Given the description of an element on the screen output the (x, y) to click on. 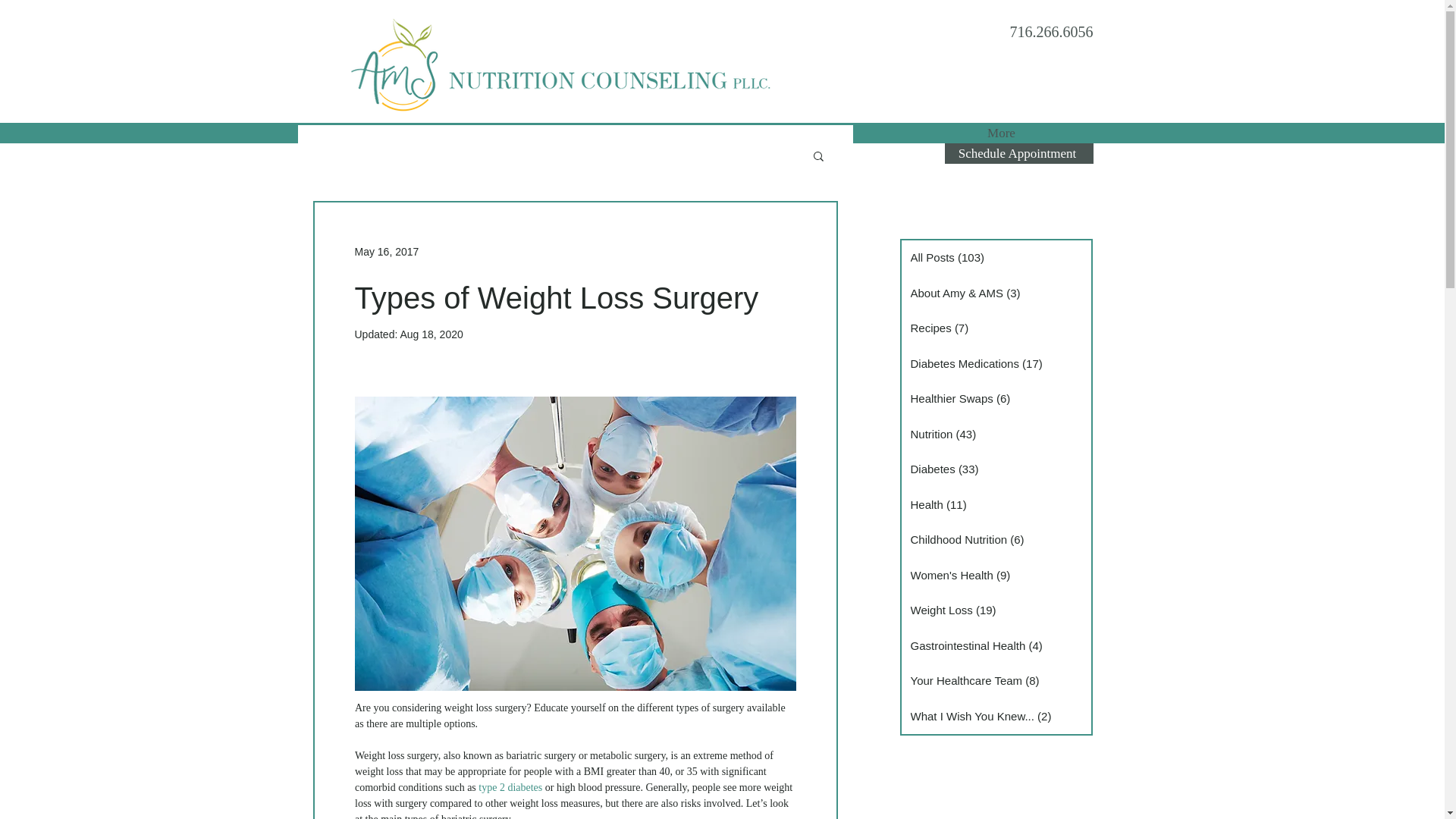
Home (442, 132)
716.266.6056 (1051, 31)
About Amy (814, 132)
May 16, 2017 (387, 251)
type 2 diabetes (510, 787)
Aug 18, 2020 (430, 334)
Schedule Appointment (1018, 153)
